Given the description of an element on the screen output the (x, y) to click on. 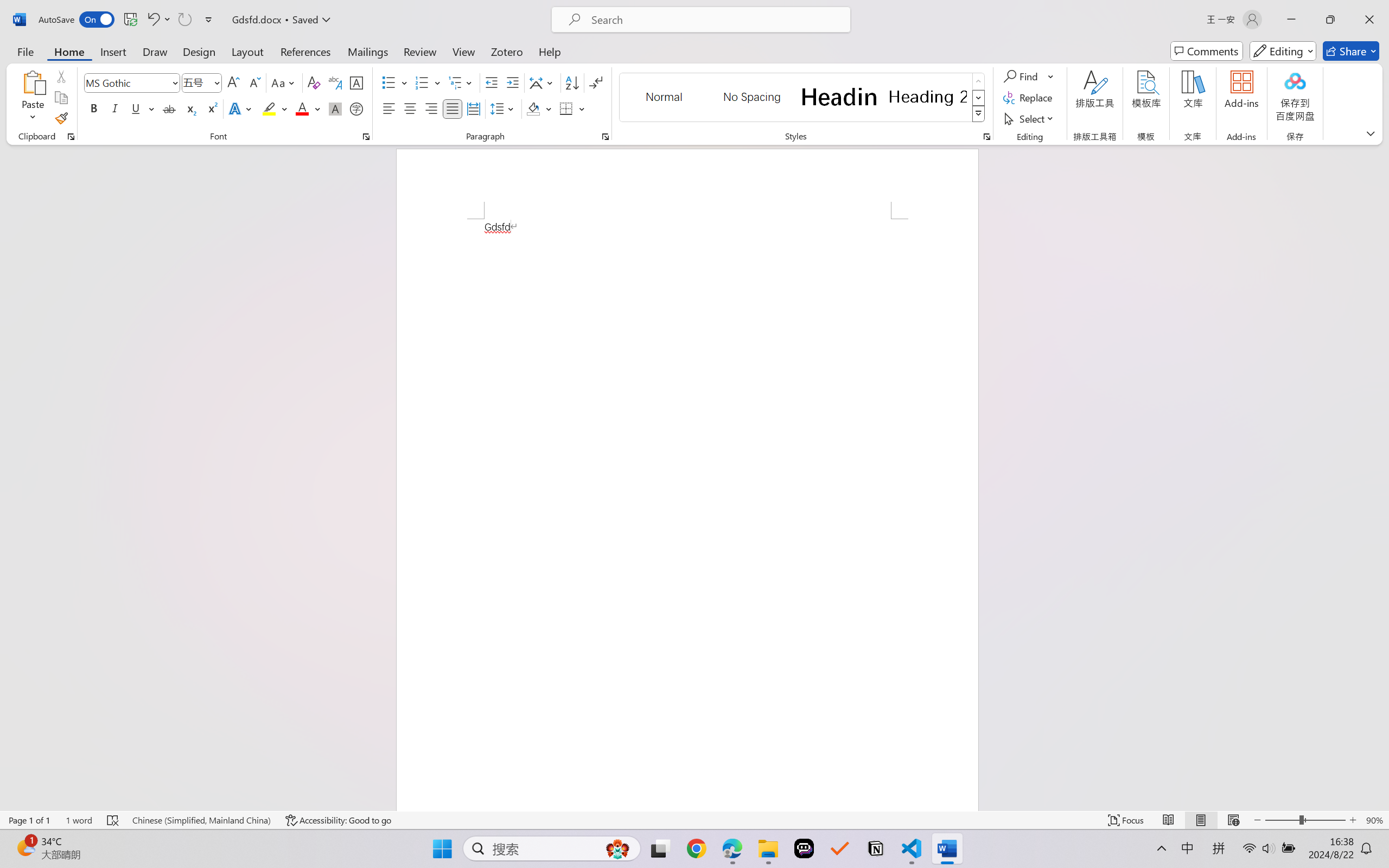
Page 1 content (687, 514)
Select (1030, 118)
Asian Layout (542, 82)
Styles... (986, 136)
